Given the description of an element on the screen output the (x, y) to click on. 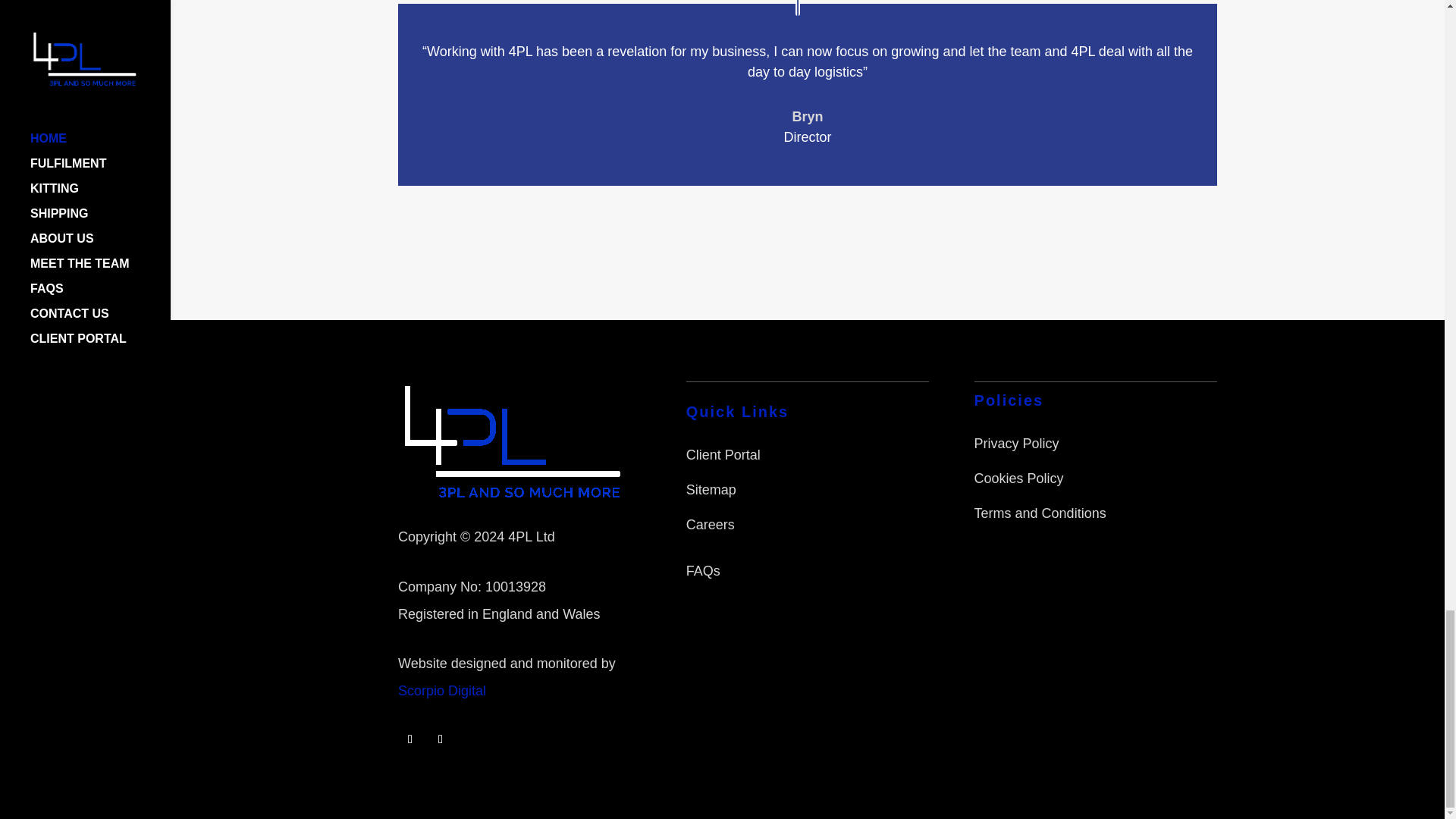
Follow on LinkedIn (409, 739)
Scorpio Digital (441, 690)
Follow on X (440, 739)
4PL-Logo-With-Strapline-White (512, 440)
